Given the description of an element on the screen output the (x, y) to click on. 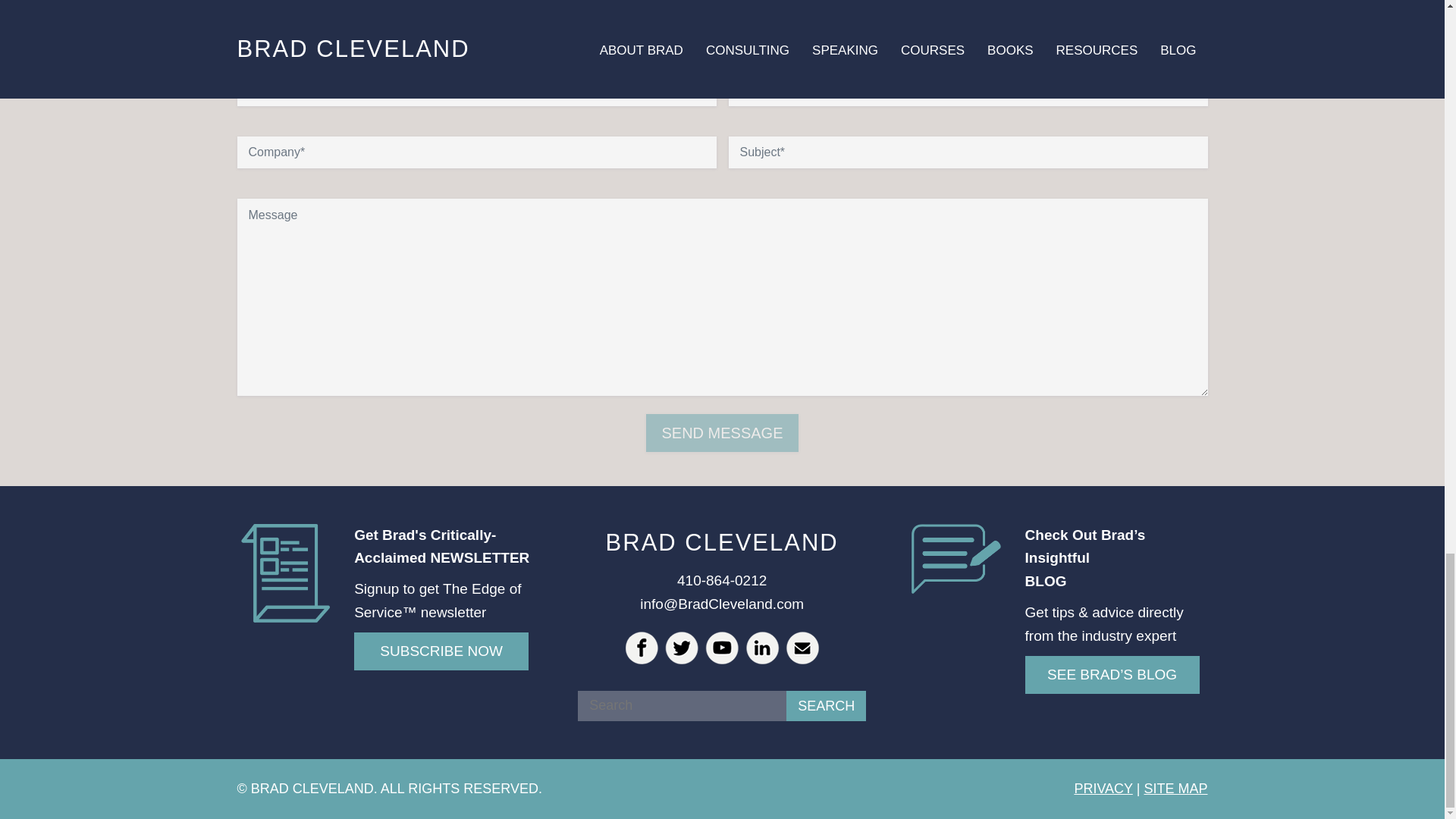
Send Message (721, 432)
